Given the description of an element on the screen output the (x, y) to click on. 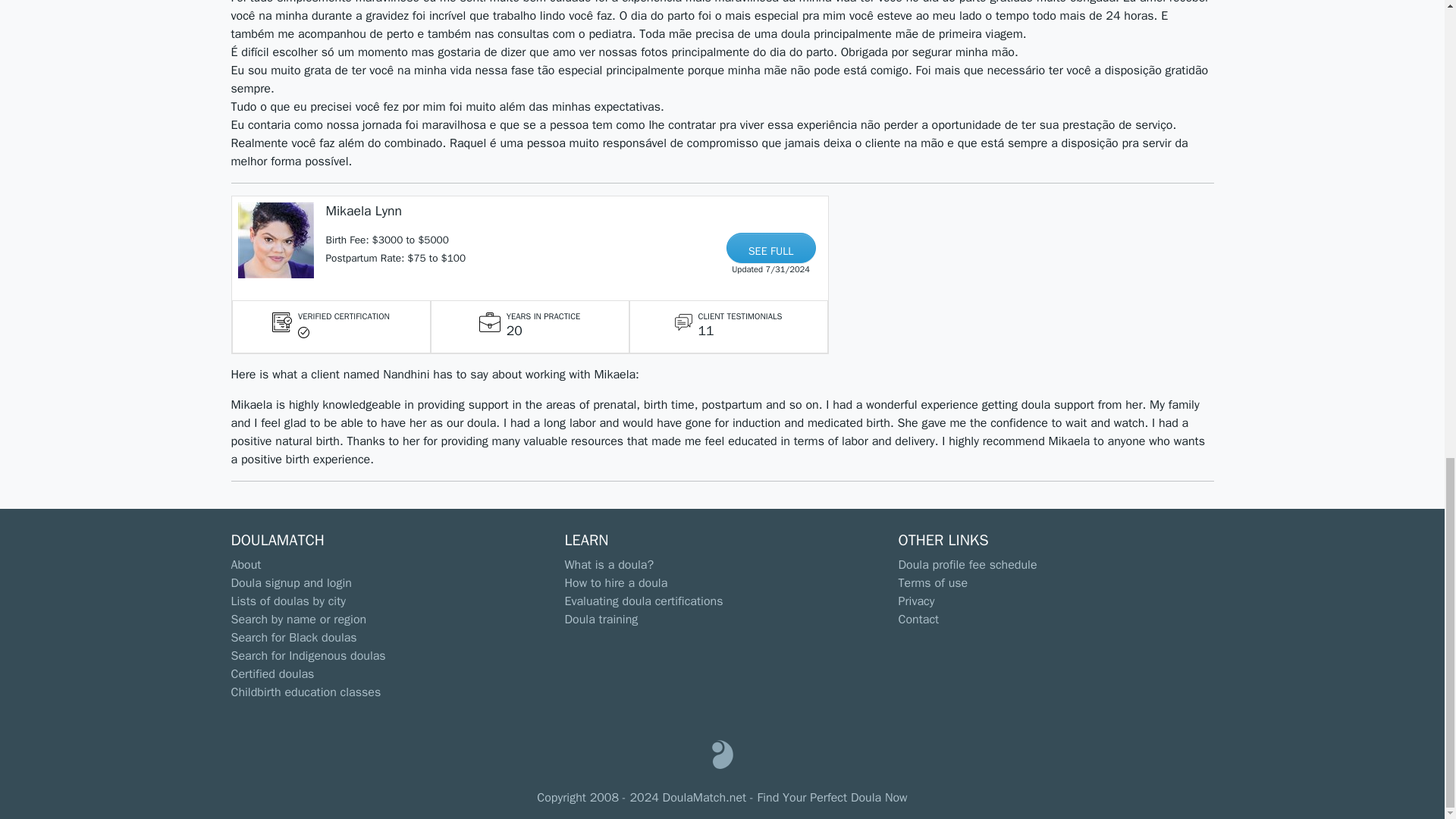
Doula signup and login (290, 582)
Terms of use (933, 582)
Privacy (916, 601)
Certified doulas (272, 673)
Search by name or region (298, 619)
Contact (918, 619)
Doula profile fee schedule (967, 564)
What is a doula? (608, 564)
SEE FULL PROFILE (770, 247)
Evaluating doula certifications (643, 601)
